Given the description of an element on the screen output the (x, y) to click on. 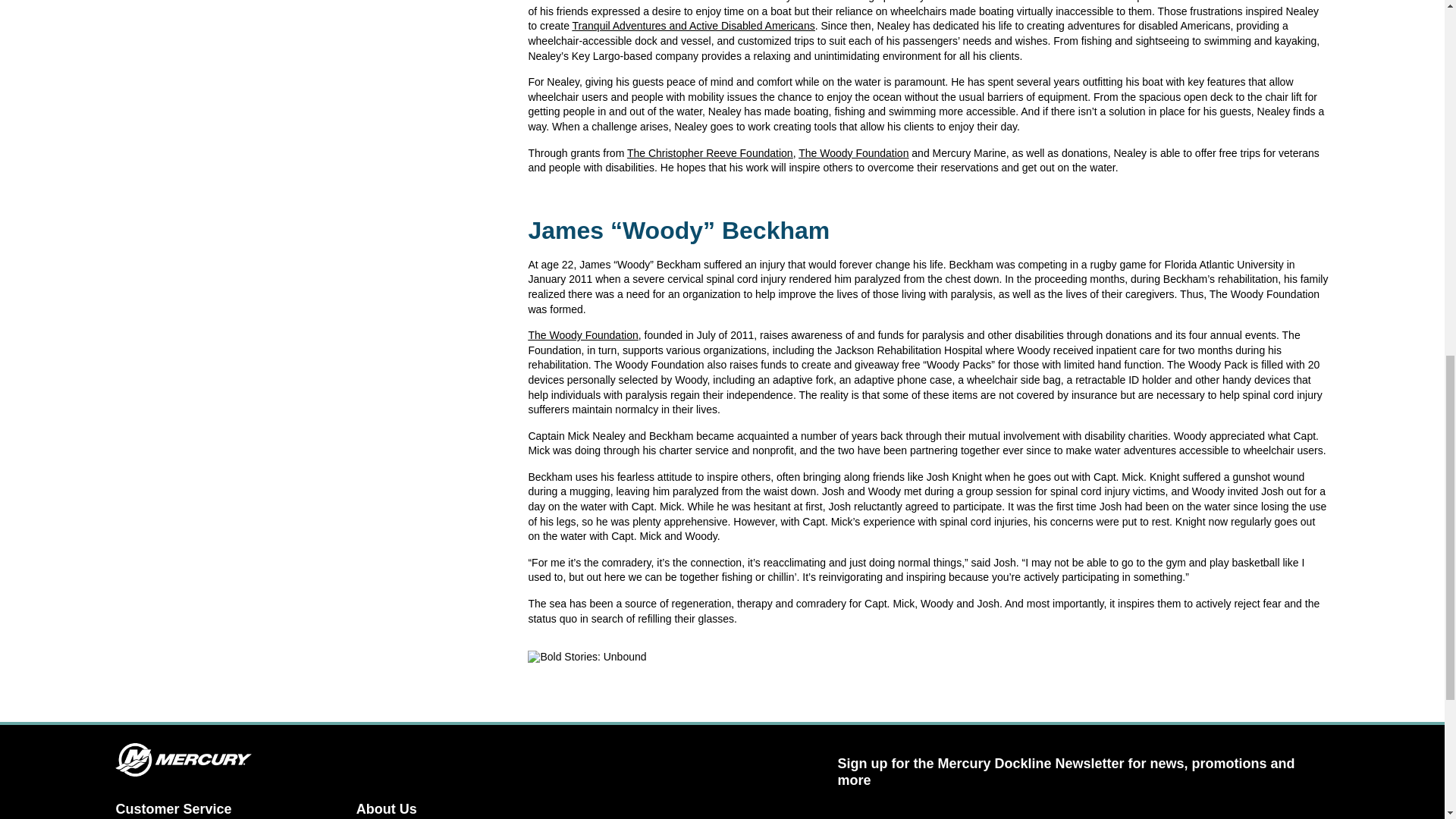
Bold Stories: Unbound (586, 657)
